Given the description of an element on the screen output the (x, y) to click on. 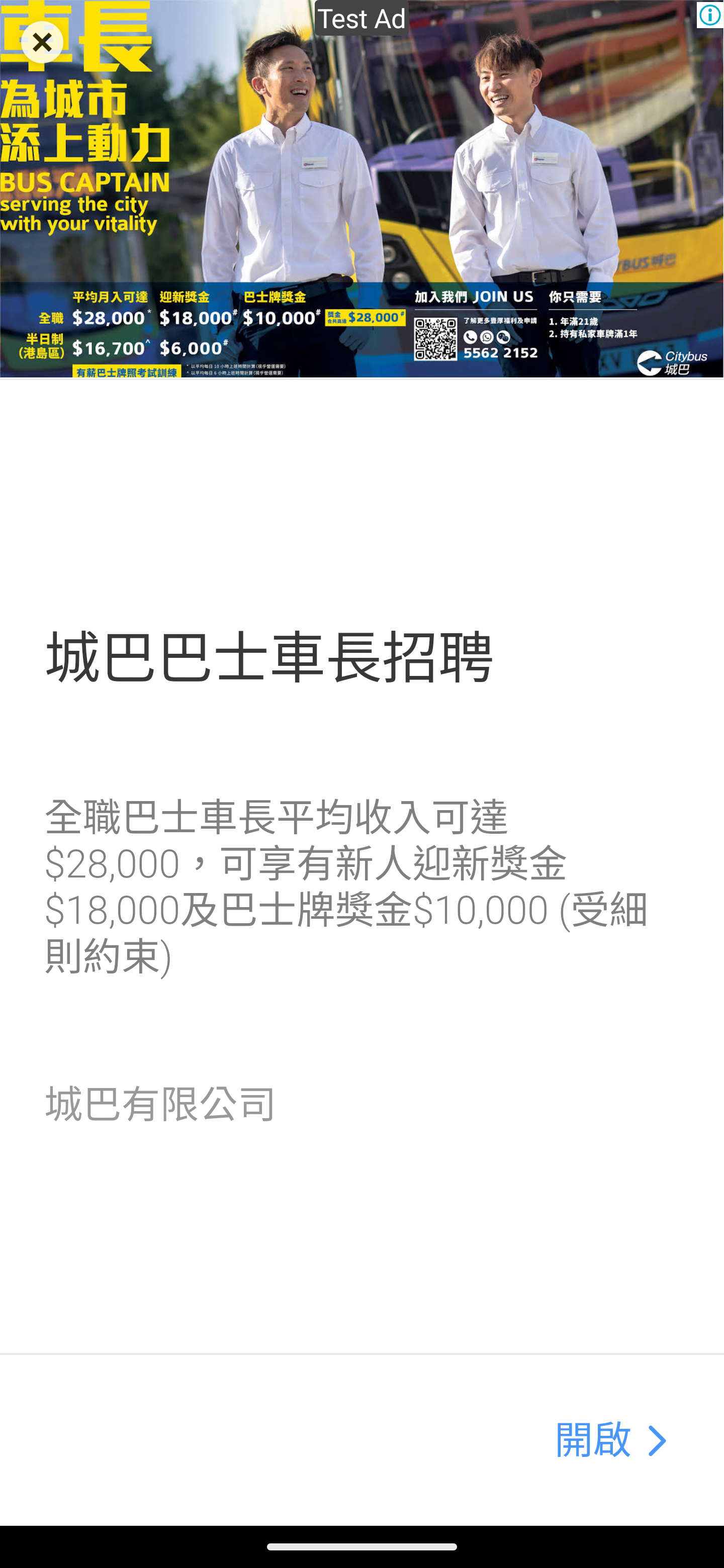
bc-recruitment (362, 189)
城巴巴士車長招聘 (268, 658)
城巴有限公司 (159, 1104)
bc-recruitment (655, 1440)
開啟 (592, 1440)
